Given the description of an element on the screen output the (x, y) to click on. 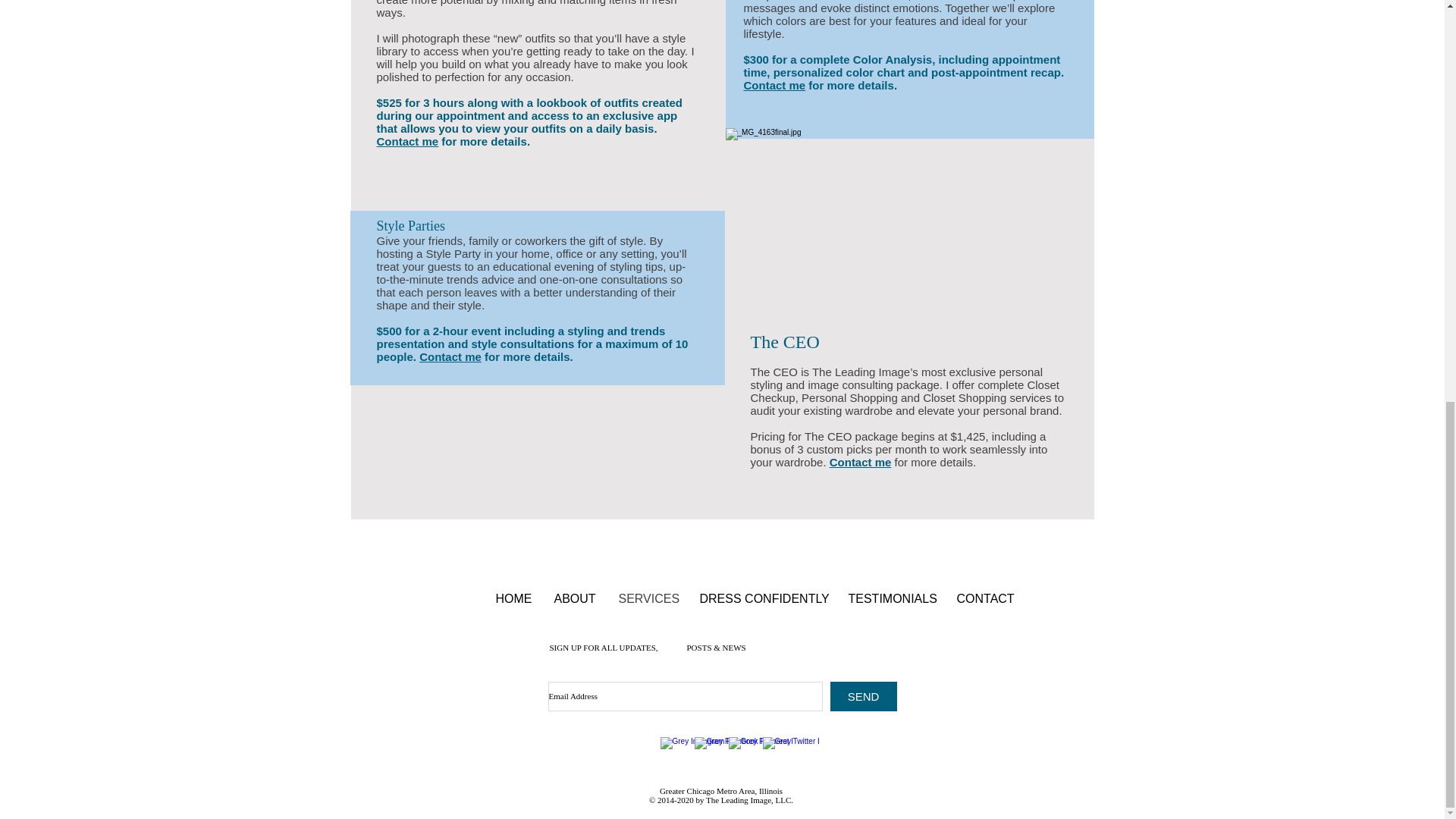
Contact me (860, 461)
Contact me (773, 84)
Contact me (406, 141)
Contact me (450, 356)
CONTACT (984, 597)
SERVICES (647, 597)
SEND (862, 696)
TESTIMONIALS (890, 597)
HOME (512, 597)
DRESS CONFIDENTLY (762, 597)
